Given the description of an element on the screen output the (x, y) to click on. 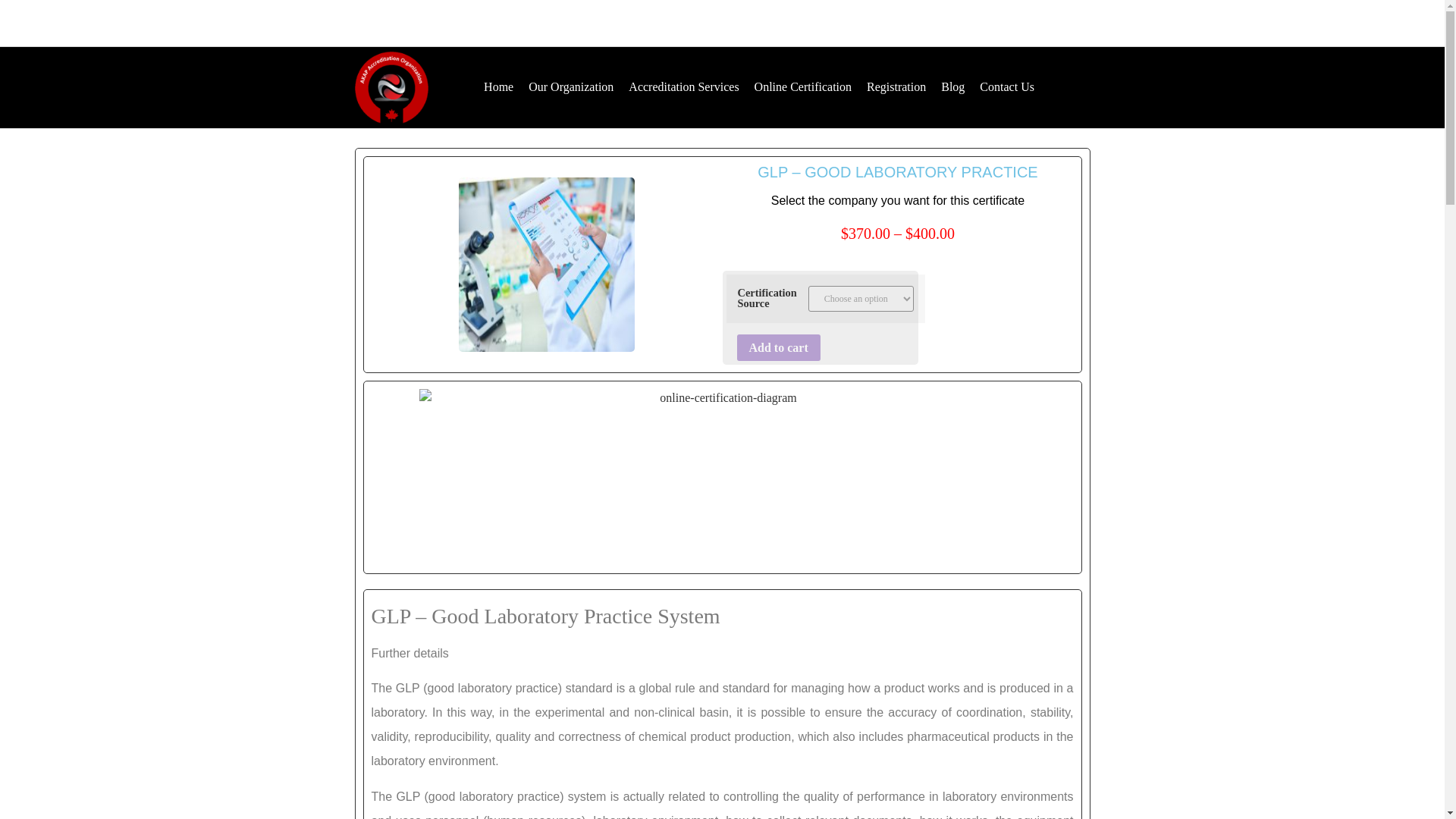
Online Certification (802, 86)
Our Organization (571, 86)
Contact Us (1007, 86)
Registration (896, 86)
Accreditation Services (683, 86)
